Given the description of an element on the screen output the (x, y) to click on. 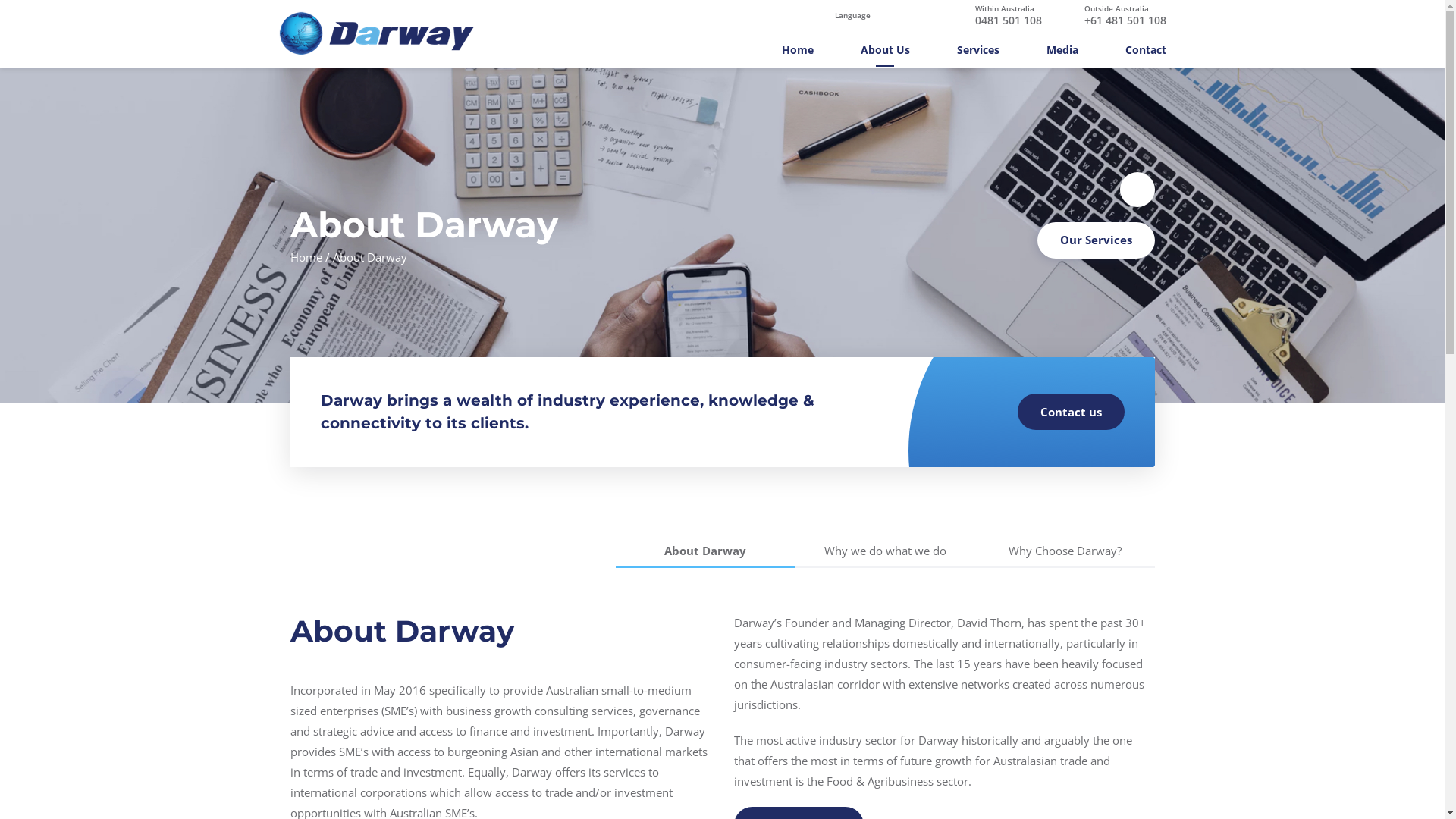
About Us Element type: text (884, 53)
Home Element type: text (305, 256)
Services Element type: text (978, 53)
Contact us Element type: text (1070, 411)
Darway Element type: hover (376, 31)
Contact Element type: text (1145, 53)
Media Element type: text (1062, 53)
Home Element type: text (796, 53)
Why Choose Darway? Element type: text (1064, 551)
Search Element type: text (1108, 27)
Our Services Element type: text (1095, 240)
Why we do what we do Element type: text (884, 551)
About Darway Element type: text (705, 551)
